Given the description of an element on the screen output the (x, y) to click on. 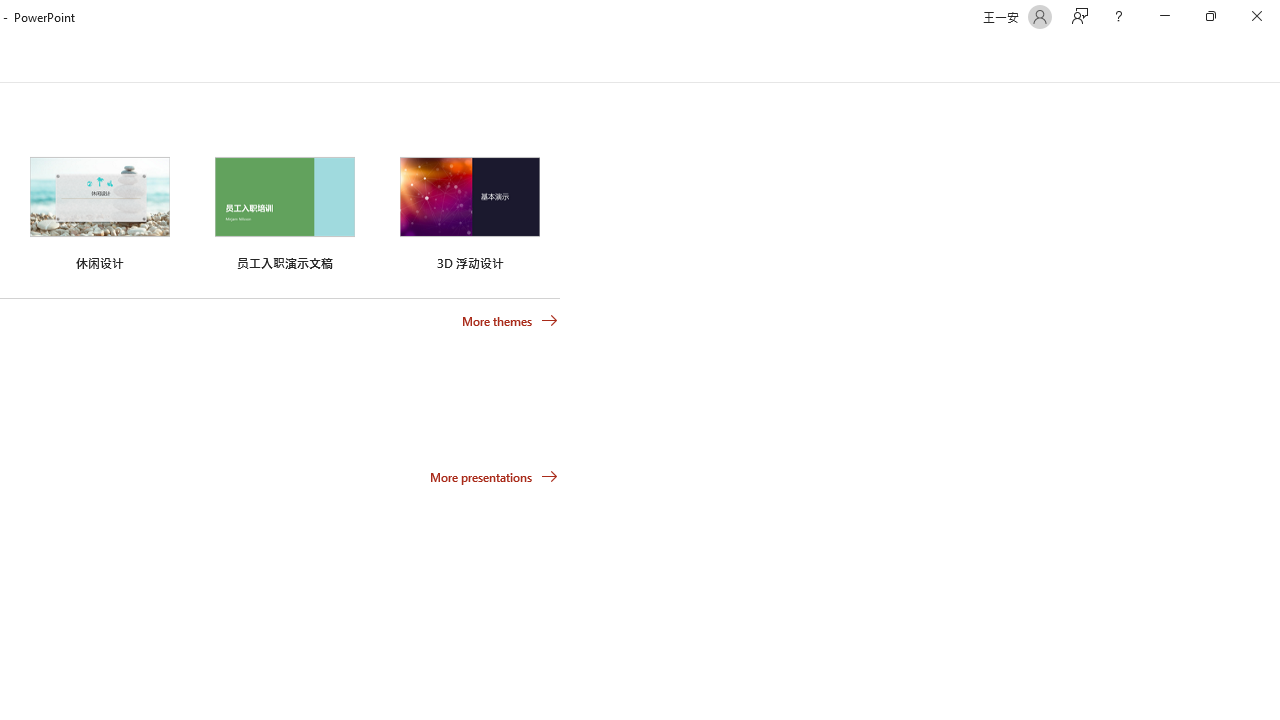
More presentations (493, 476)
Class: NetUIScrollBar (1271, 59)
More themes (509, 321)
